Given the description of an element on the screen output the (x, y) to click on. 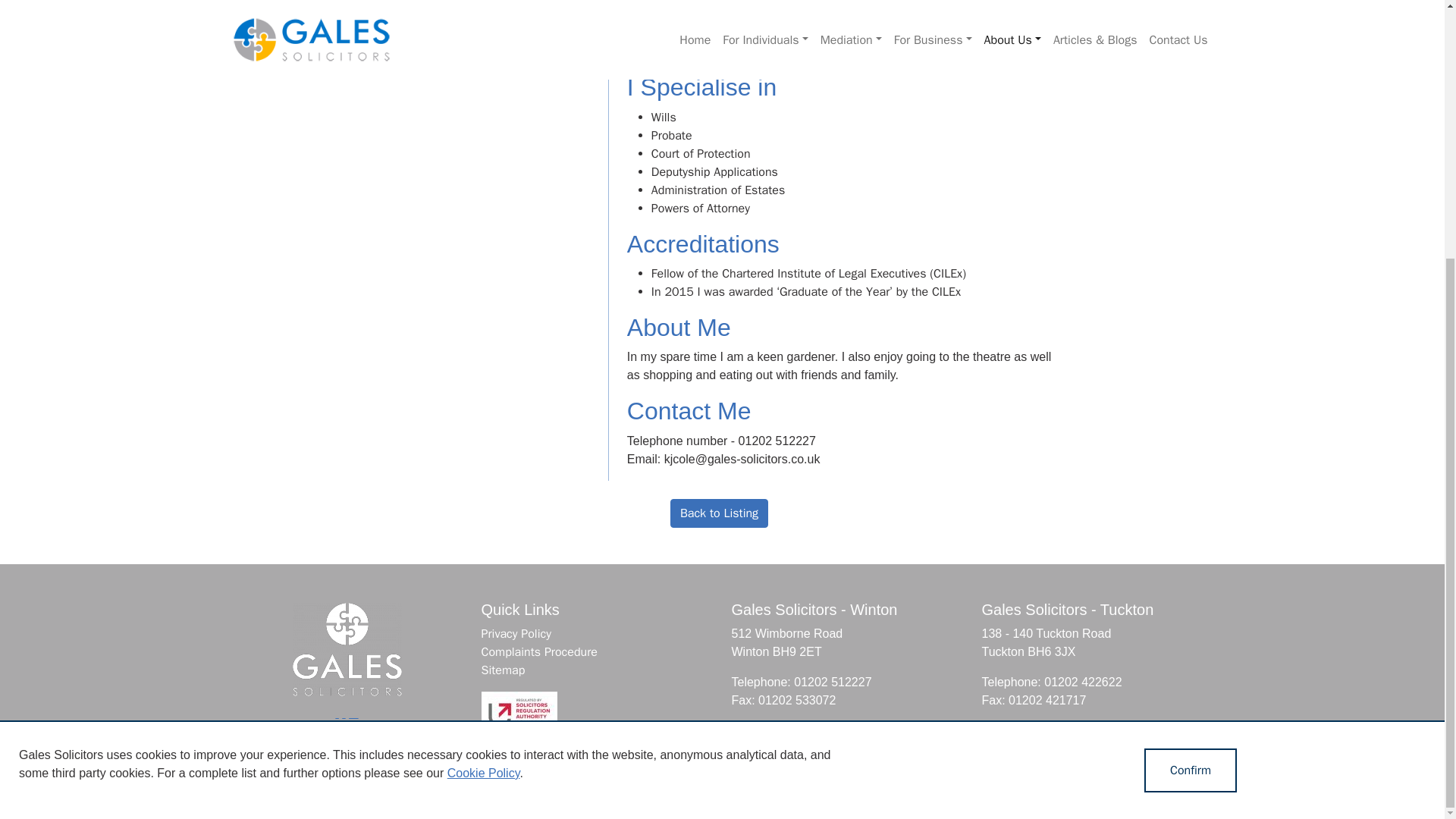
Back to Listing (718, 512)
Cookie Policy (482, 403)
Sitemap (502, 670)
Complaints Procedure (538, 652)
Privacy Policy (515, 633)
